Given the description of an element on the screen output the (x, y) to click on. 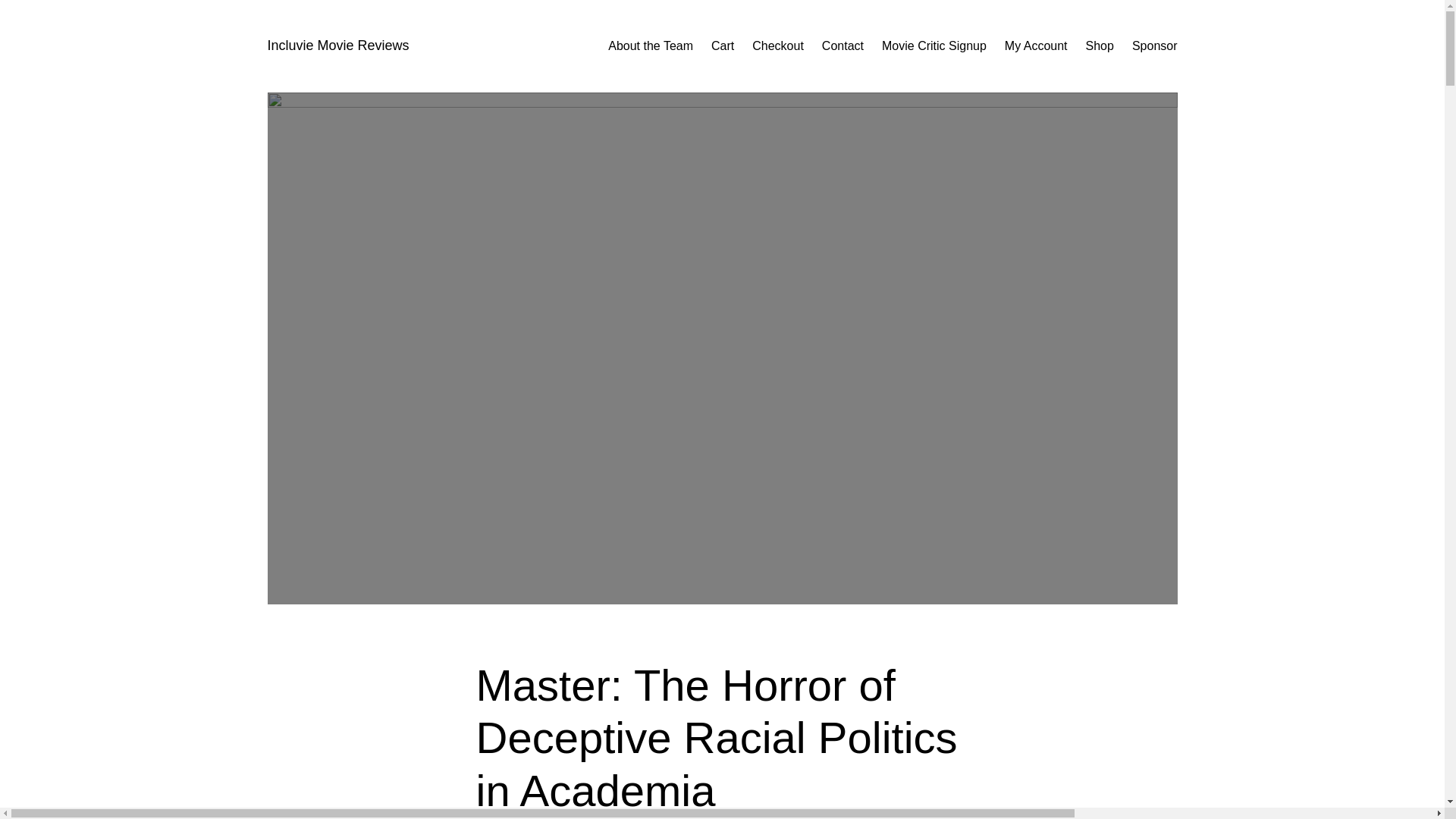
About the Team (650, 46)
Cart (722, 46)
Movie Critic Signup (934, 46)
Checkout (777, 46)
Incluvie Movie Reviews (337, 45)
Shop (1099, 46)
Sponsor (1154, 46)
My Account (1035, 46)
Contact (842, 46)
